Given the description of an element on the screen output the (x, y) to click on. 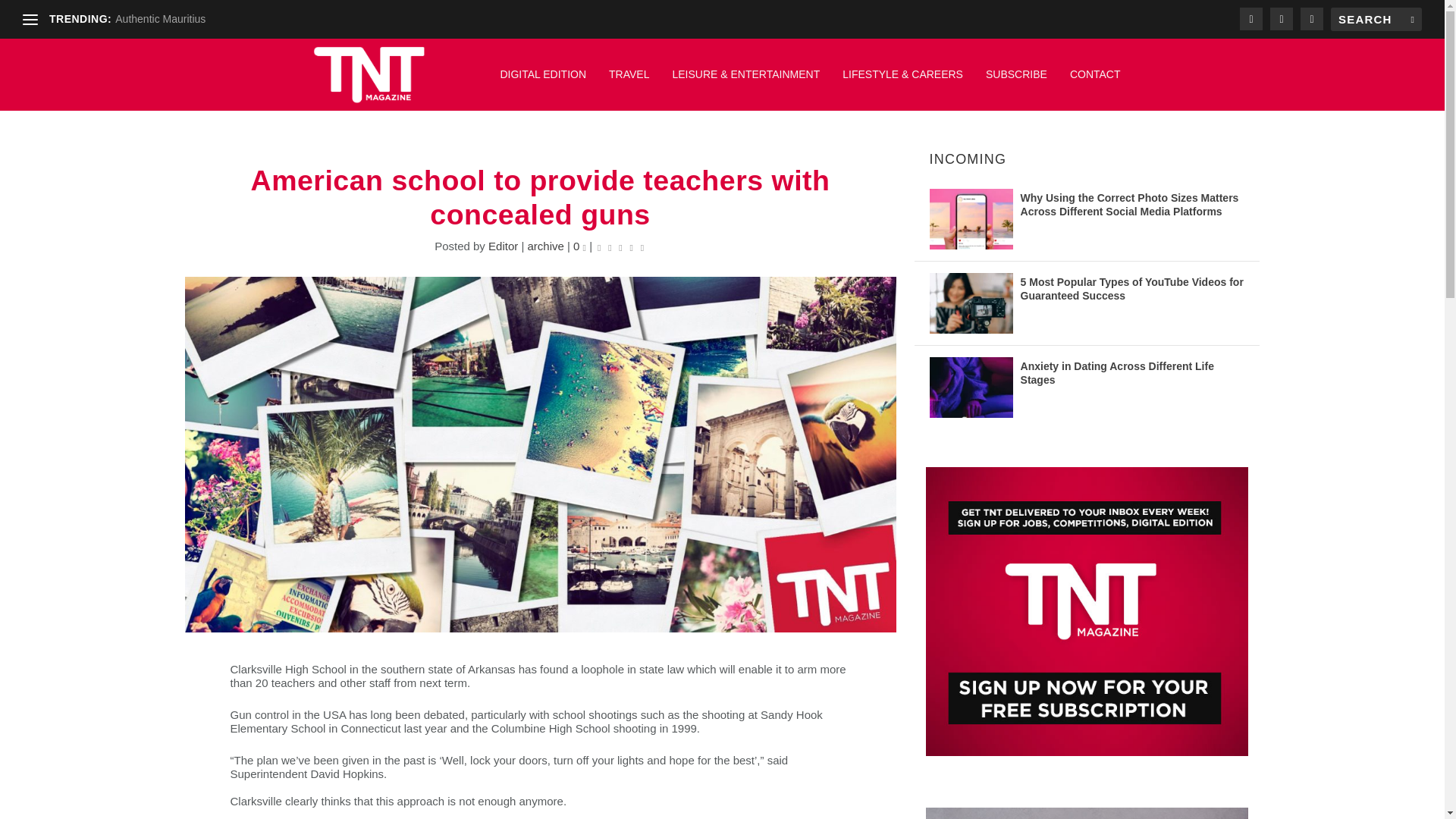
CONTACT (1095, 82)
SUBSCRIBE (1015, 82)
TRAVEL (628, 82)
Editor (502, 245)
Search for: (1376, 19)
Posts by Editor (502, 245)
archive (545, 245)
0 (579, 245)
Authentic Mauritius (160, 19)
comment count (584, 247)
Rating: 0.00 (620, 246)
DIGITAL EDITION (542, 82)
